Given the description of an element on the screen output the (x, y) to click on. 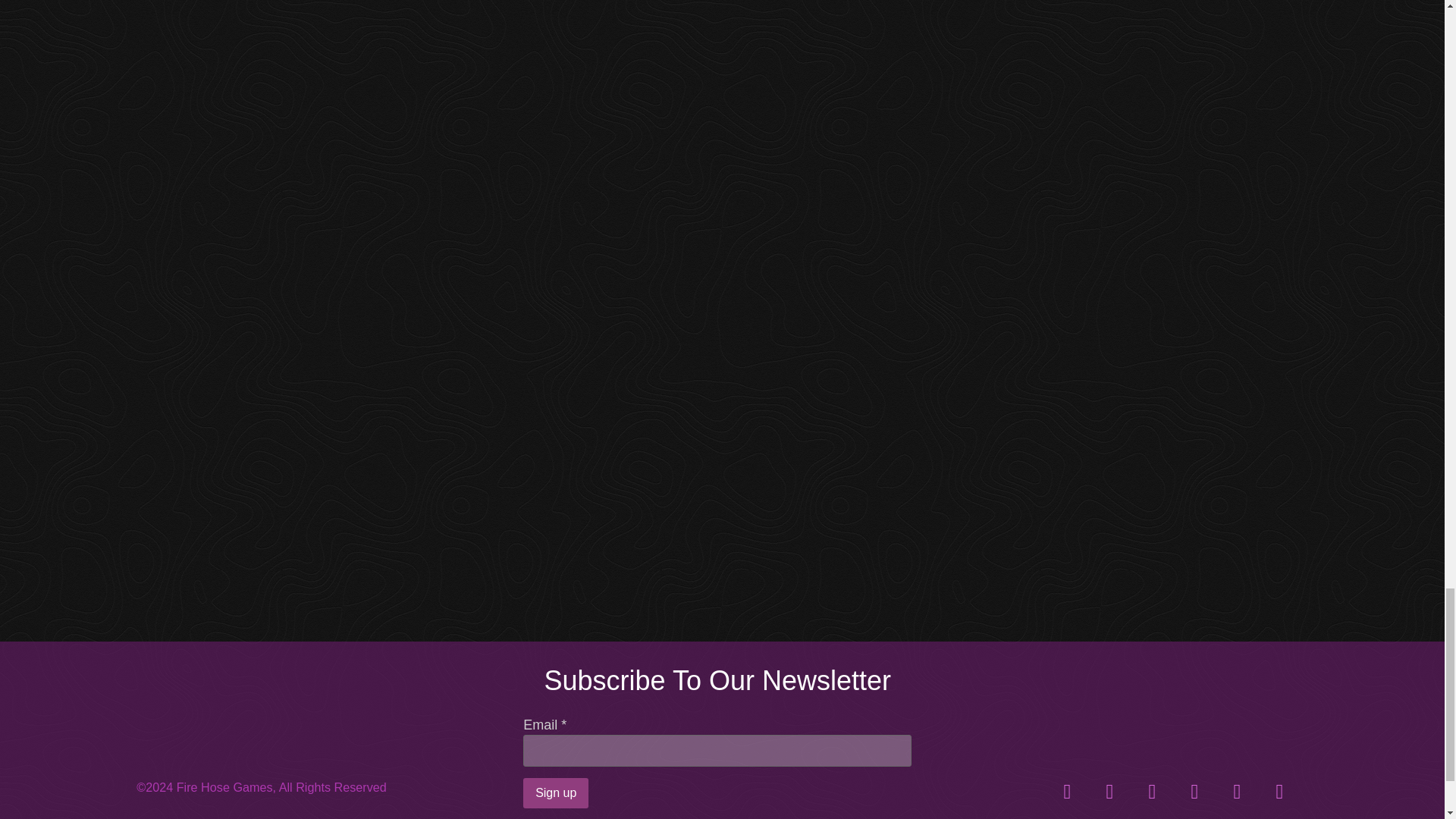
required (563, 724)
Sign up (555, 793)
Sign up (555, 793)
